Given the description of an element on the screen output the (x, y) to click on. 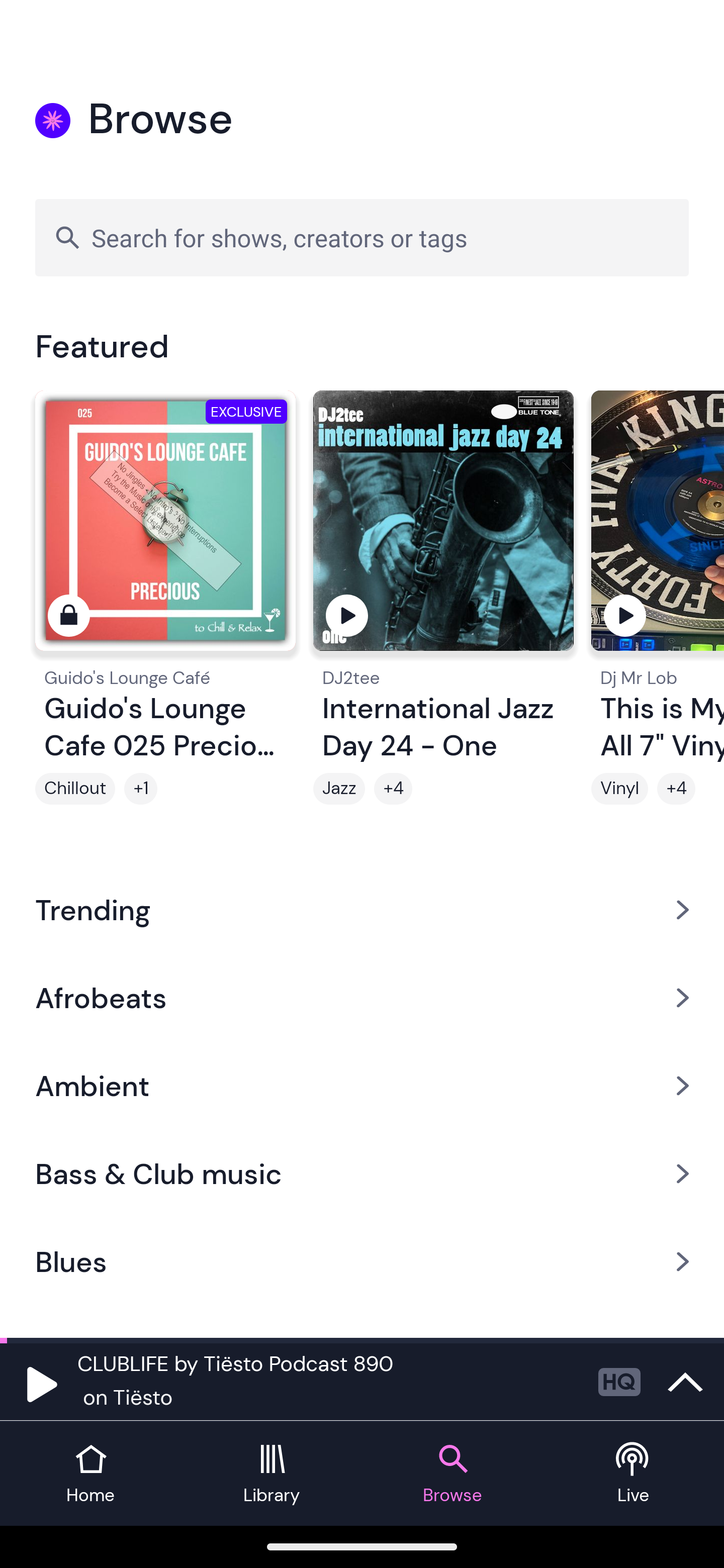
Search for shows, creators or tags (361, 237)
EXCLUSIVE (165, 528)
Chillout (75, 788)
Jazz (338, 788)
Vinyl (619, 788)
Trending (361, 909)
Afrobeats (361, 997)
Ambient (361, 1085)
Bass & Club music (361, 1174)
Blues (361, 1262)
Home tab Home (90, 1473)
Library tab Library (271, 1473)
Browse tab Browse (452, 1473)
Live tab Live (633, 1473)
